Given the description of an element on the screen output the (x, y) to click on. 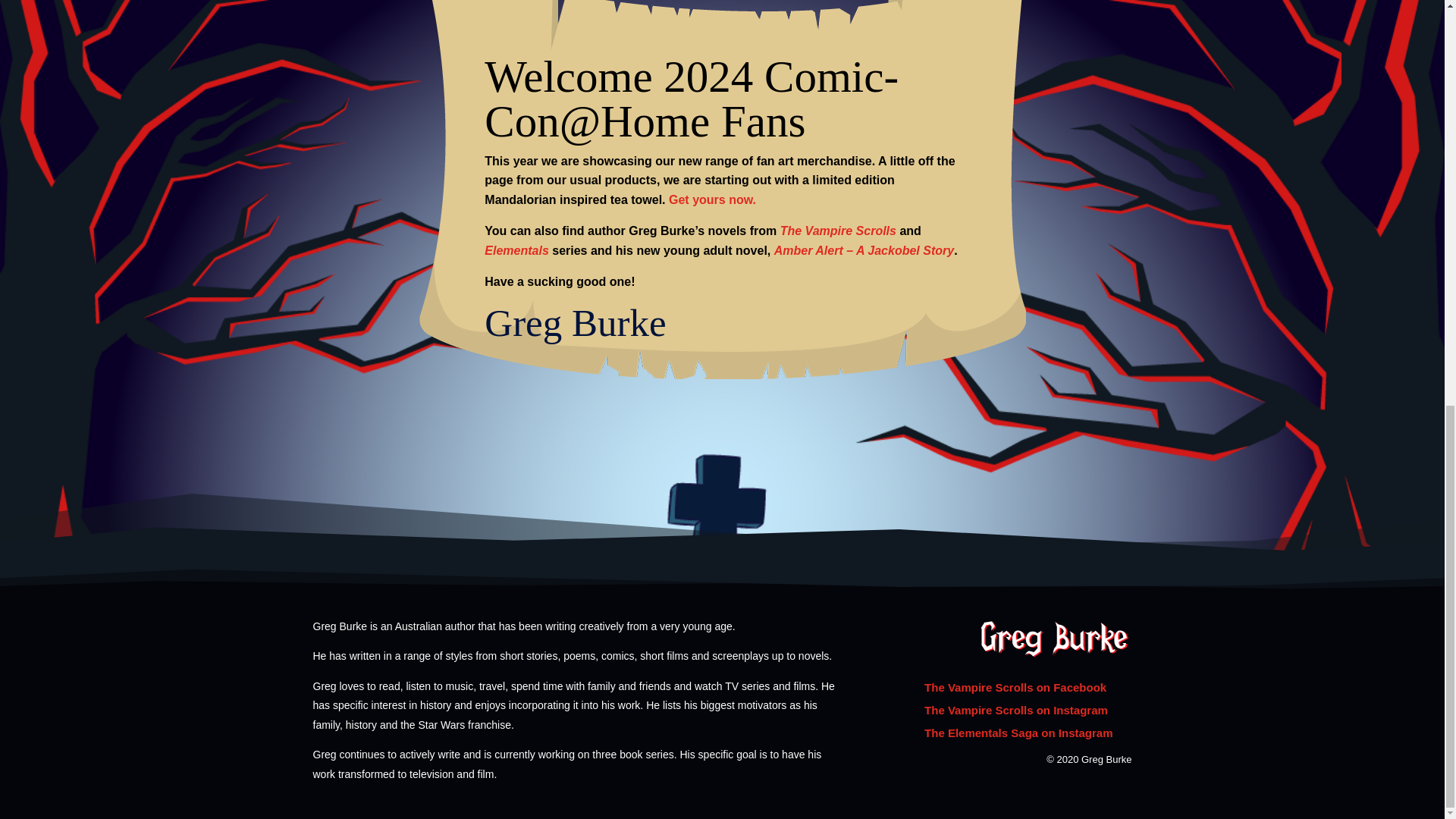
Get yours now. (711, 199)
The Vampire Scrolls (838, 230)
greg-burke-logo-200 (1055, 638)
Elementals (516, 250)
